Given the description of an element on the screen output the (x, y) to click on. 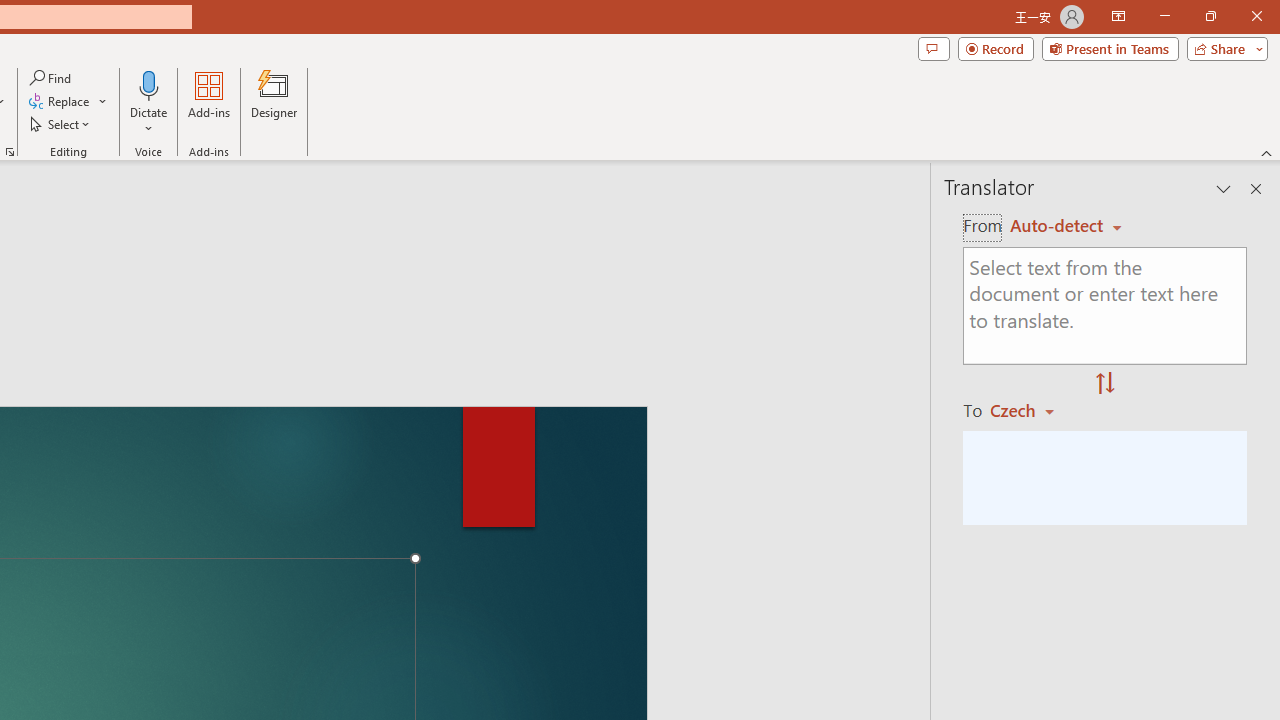
Czech (1030, 409)
